Given the description of an element on the screen output the (x, y) to click on. 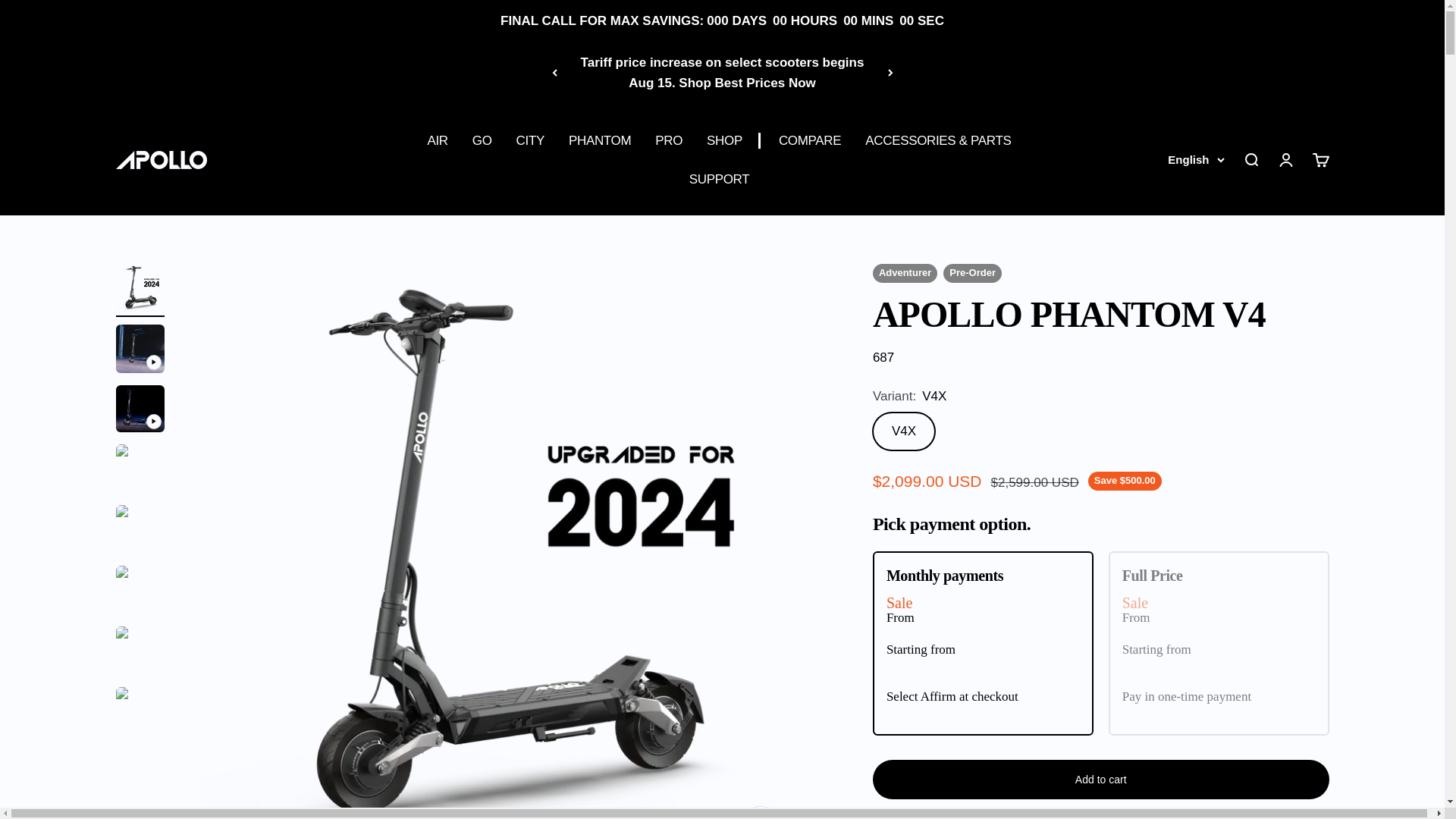
PHANTOM (599, 140)
SHOP (724, 140)
CITY (530, 140)
AIR (436, 140)
Apollo Scooters (160, 159)
COMPARE (809, 140)
GO (481, 140)
Open account page (1285, 159)
FINAL CALL FOR MAX SAVINGS: (601, 20)
PRO (668, 140)
